Given the description of an element on the screen output the (x, y) to click on. 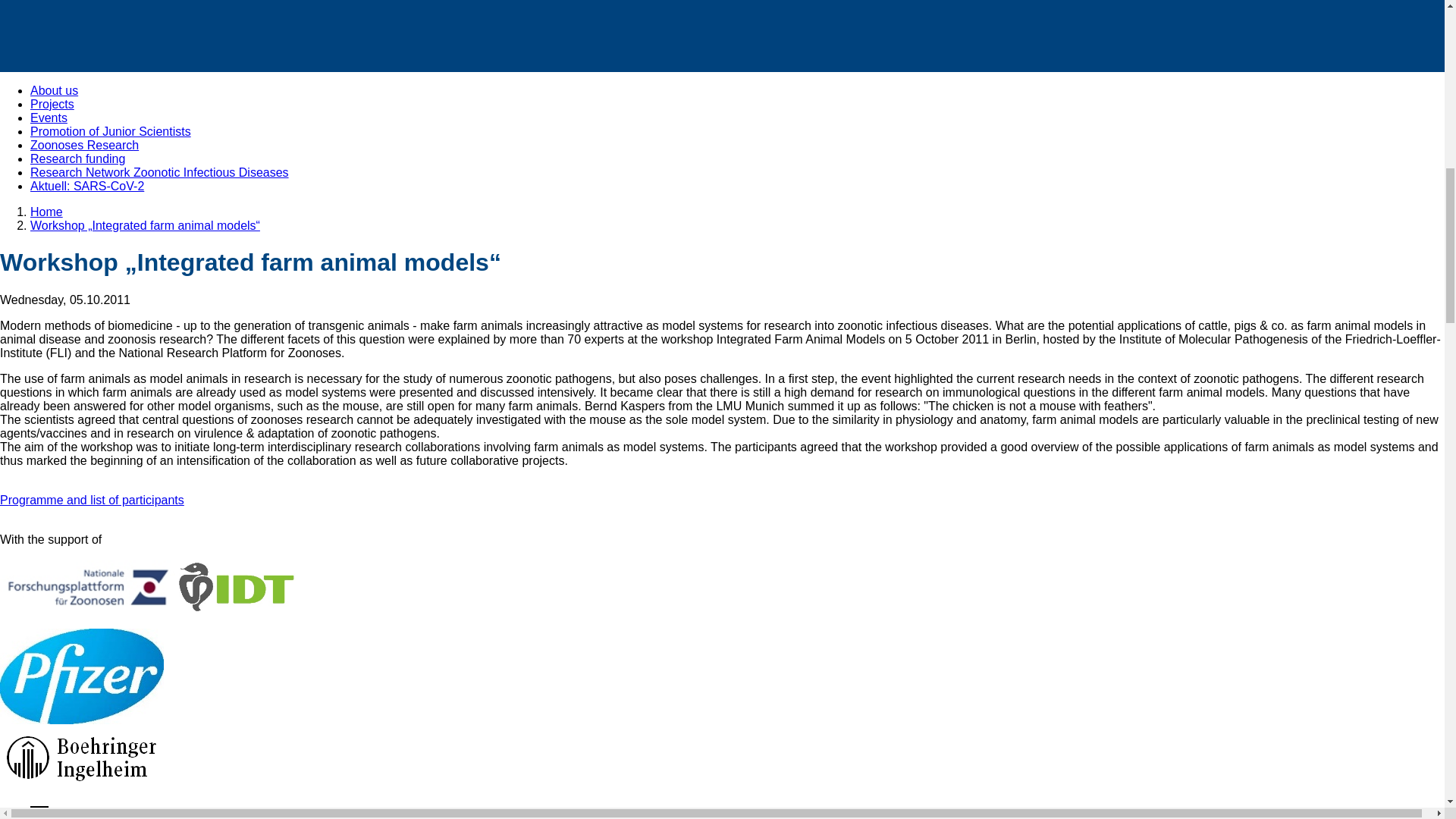
Programme and list of participants (92, 499)
Promotion of Junior Scientists (110, 131)
Zoonoses Research (84, 144)
Research funding (77, 158)
Aktuell: SARS-CoV-2 (87, 185)
Events (48, 117)
About us (54, 90)
Research Network Zoonotic Infectious Diseases (159, 172)
German (39, 812)
About us (54, 90)
